Given the description of an element on the screen output the (x, y) to click on. 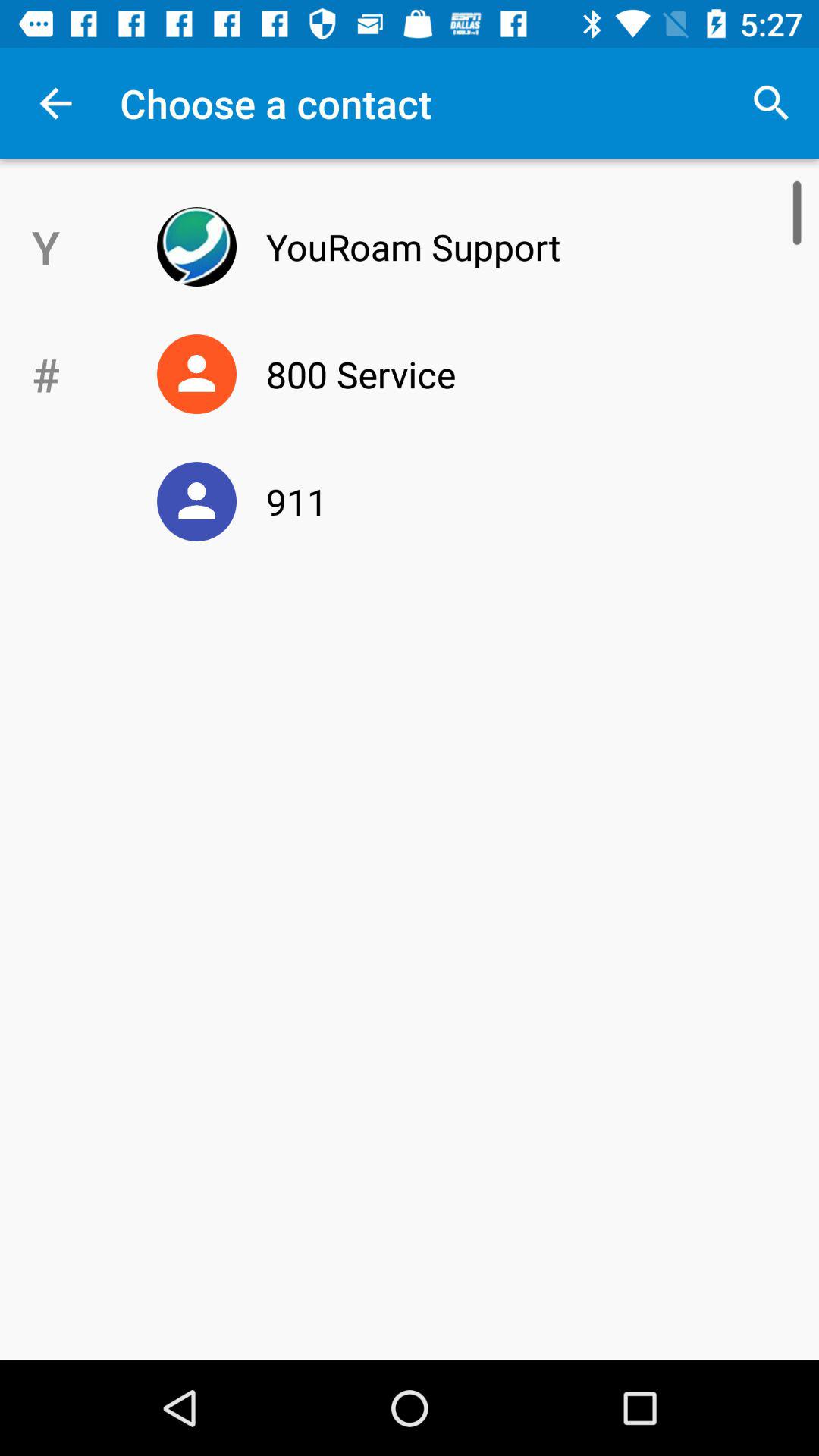
tap the icon at the top right corner (771, 103)
